Given the description of an element on the screen output the (x, y) to click on. 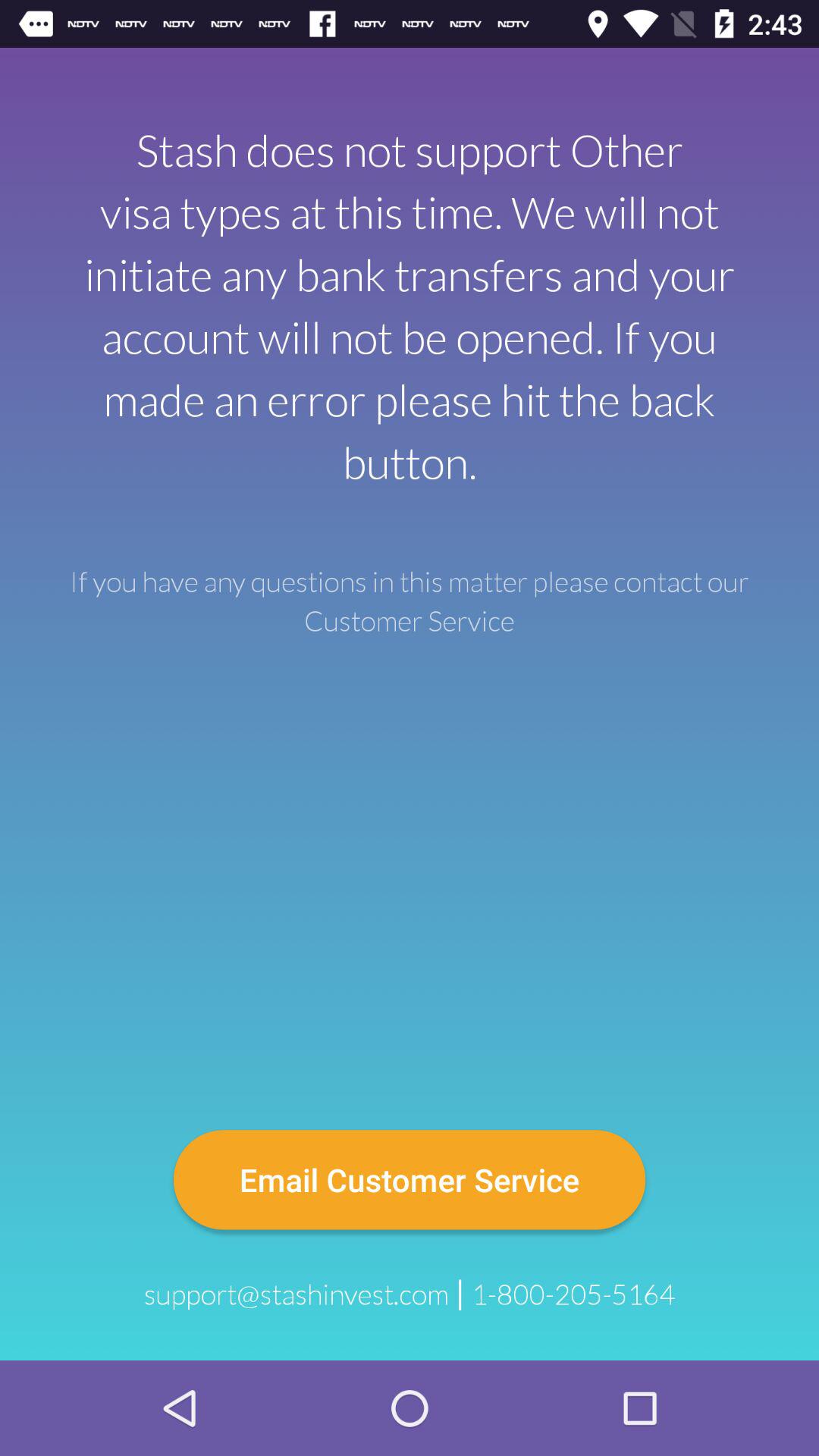
scroll to 1 800 205 item (573, 1294)
